Given the description of an element on the screen output the (x, y) to click on. 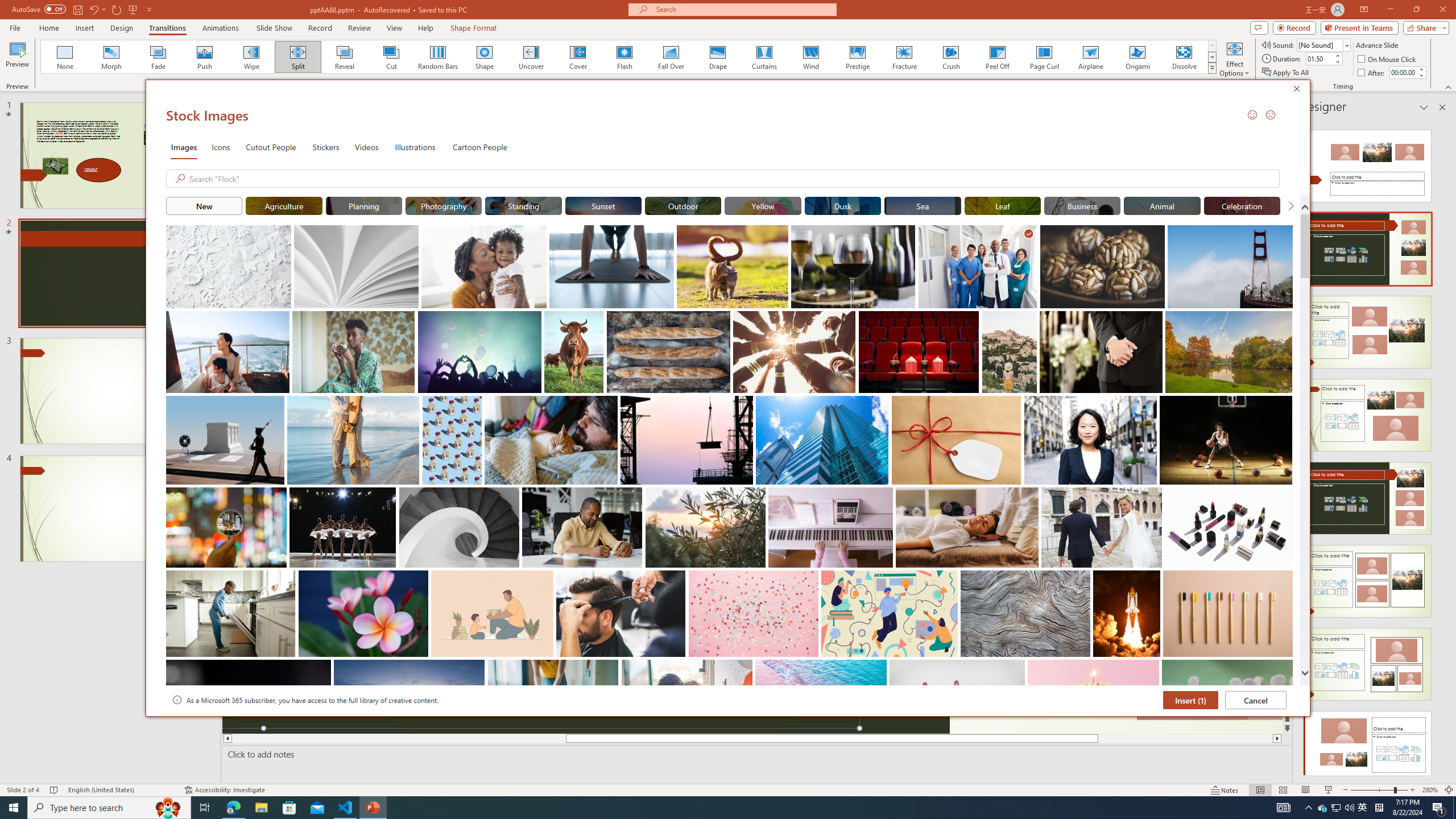
Cover (577, 56)
Thumbnail (1283, 668)
Prestige (857, 56)
Help (425, 28)
Quick Access Toolbar (82, 9)
Design (122, 28)
Illustrations (415, 146)
Customize Quick Access Toolbar (1335, 807)
Record (149, 9)
Transitions (1294, 27)
Dissolve (167, 28)
